Given the description of an element on the screen output the (x, y) to click on. 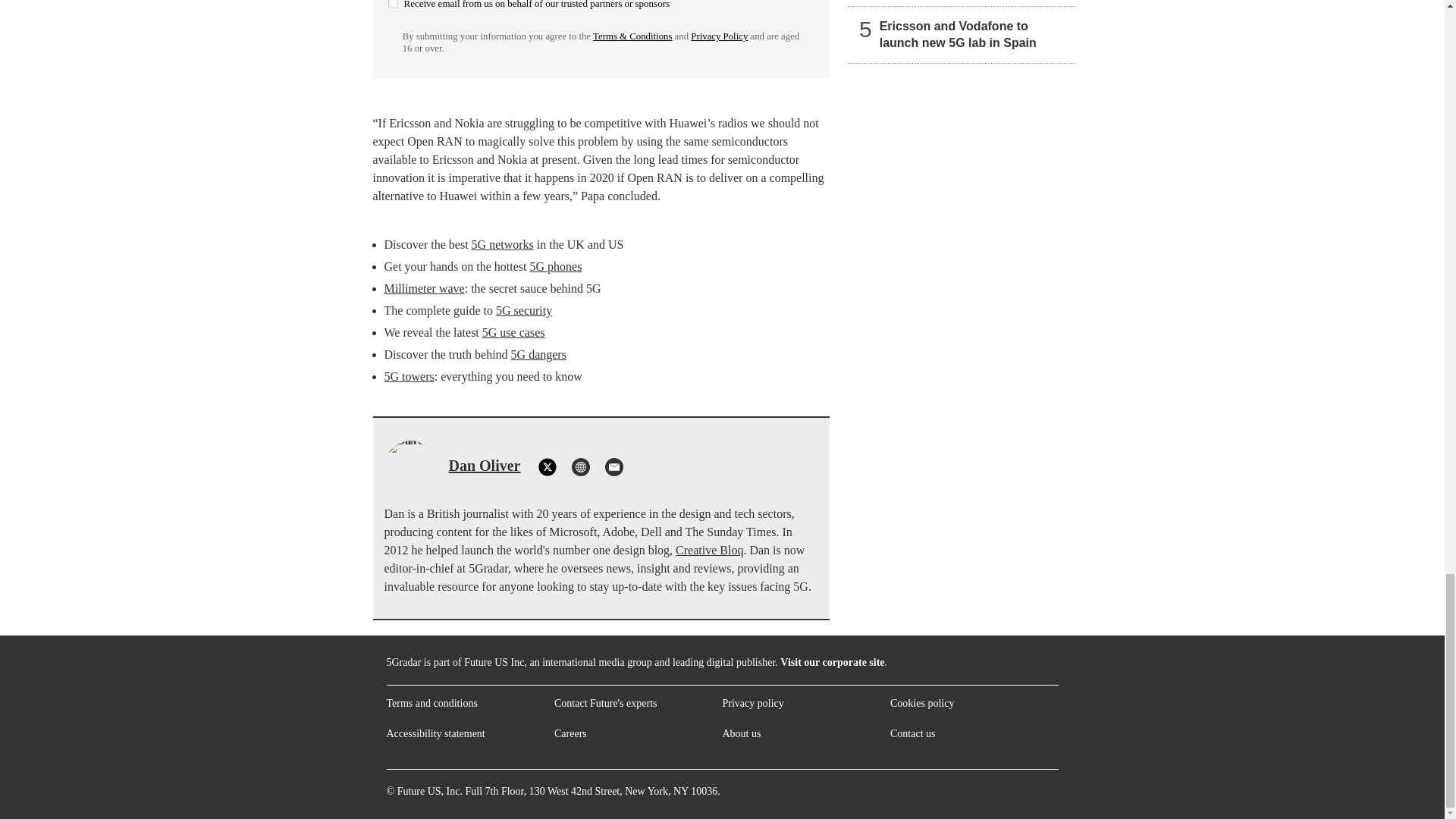
5G networks (502, 244)
on (392, 4)
Privacy Policy (719, 36)
